Given the description of an element on the screen output the (x, y) to click on. 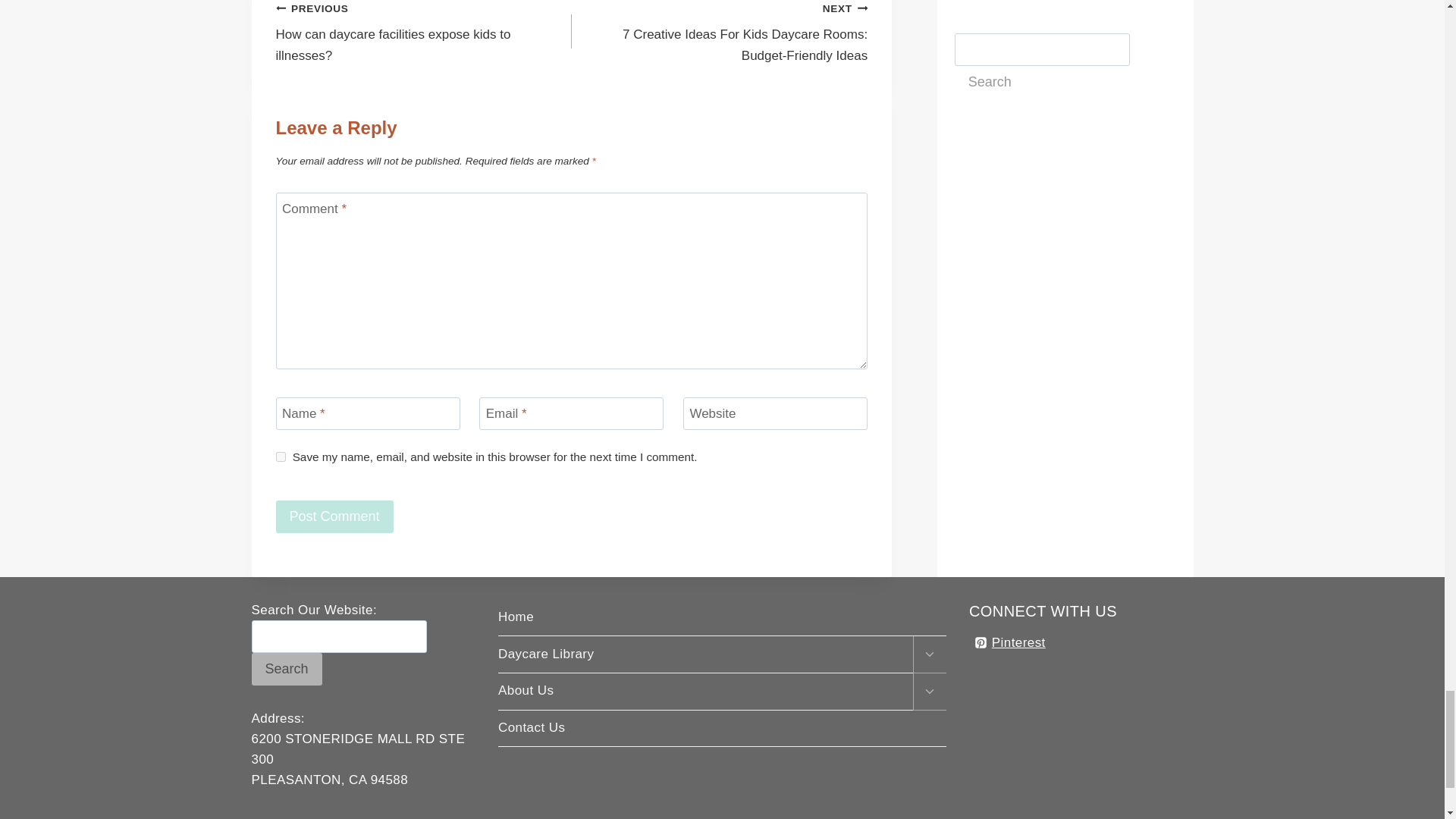
yes (280, 456)
Post Comment (334, 516)
